Given the description of an element on the screen output the (x, y) to click on. 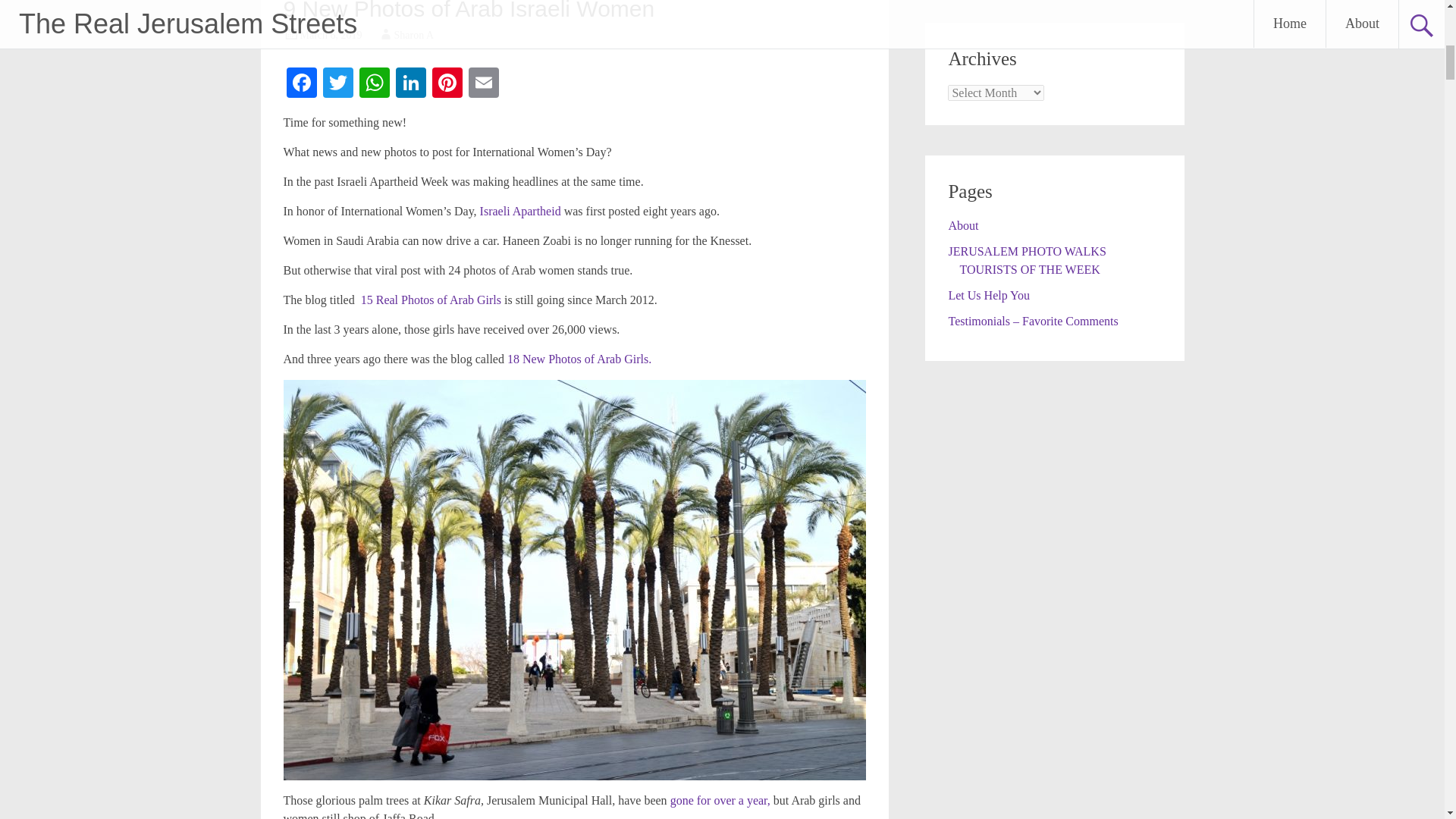
Facebook (301, 84)
15 Real Photos of Arab Girls (430, 299)
18 New Photos of Arab Girls. (578, 358)
Pinterest (447, 84)
LinkedIn (411, 84)
Israeli Apartheid (520, 210)
9 New Photos of Arab Israeli Women (469, 10)
LinkedIn (411, 84)
gone for over a year, (719, 799)
Pinterest (447, 84)
WhatsApp (374, 84)
Email (483, 84)
Twitter (338, 84)
Twitter (338, 84)
Email (483, 84)
